Given the description of an element on the screen output the (x, y) to click on. 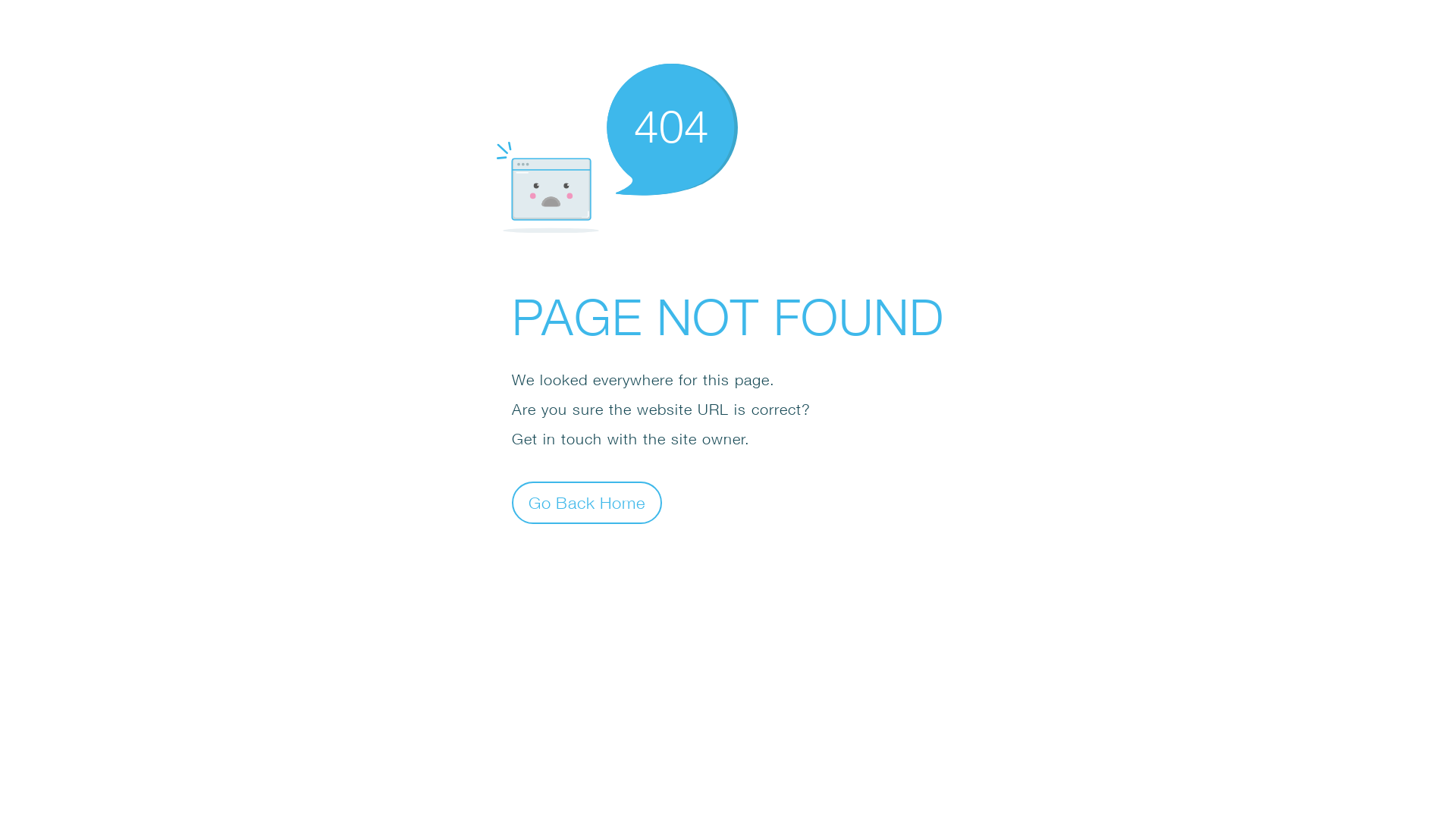
Go Back Home Element type: text (586, 502)
